Given the description of an element on the screen output the (x, y) to click on. 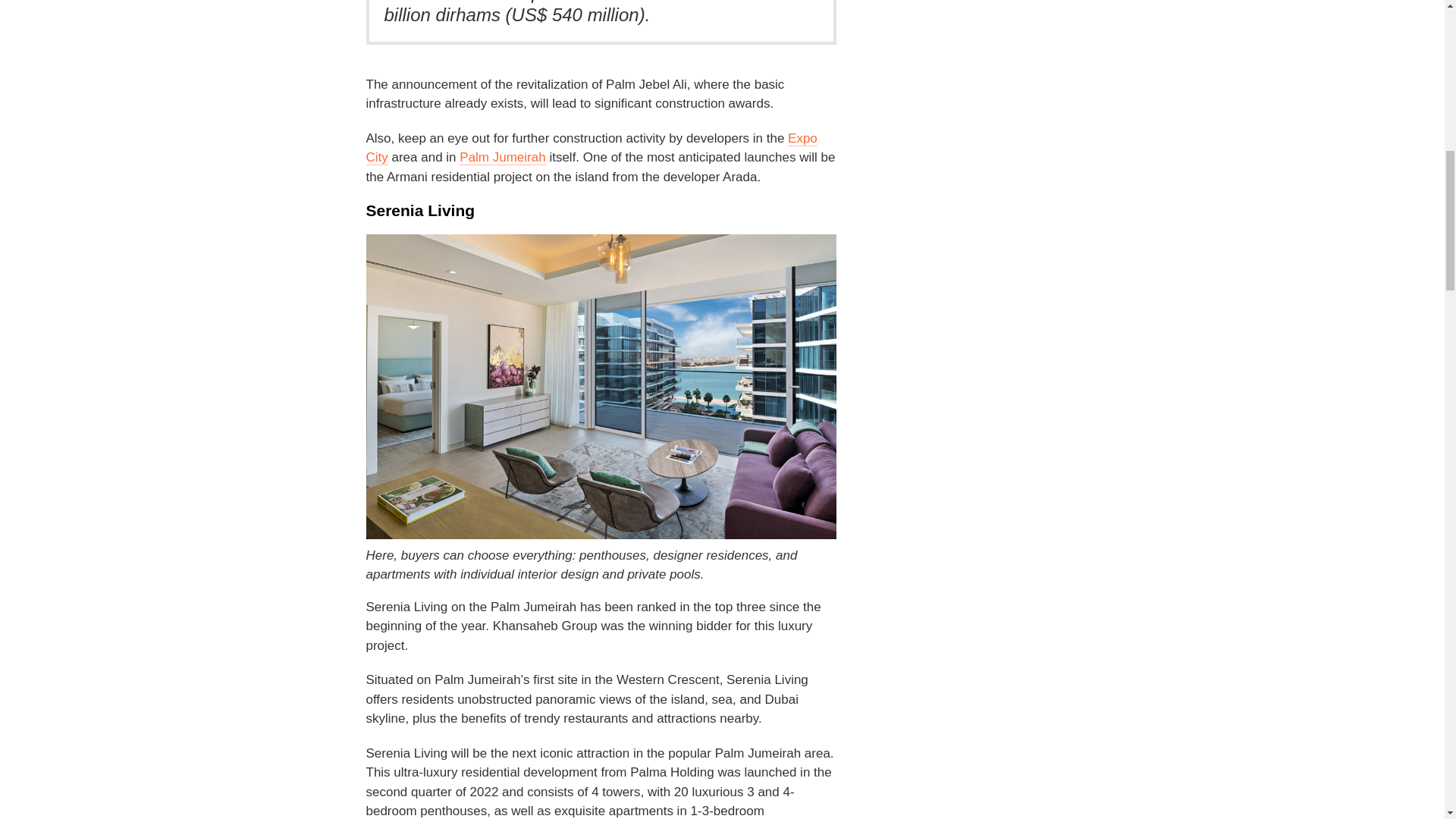
Expo City (590, 148)
Palm Jumeirah (502, 157)
